Given the description of an element on the screen output the (x, y) to click on. 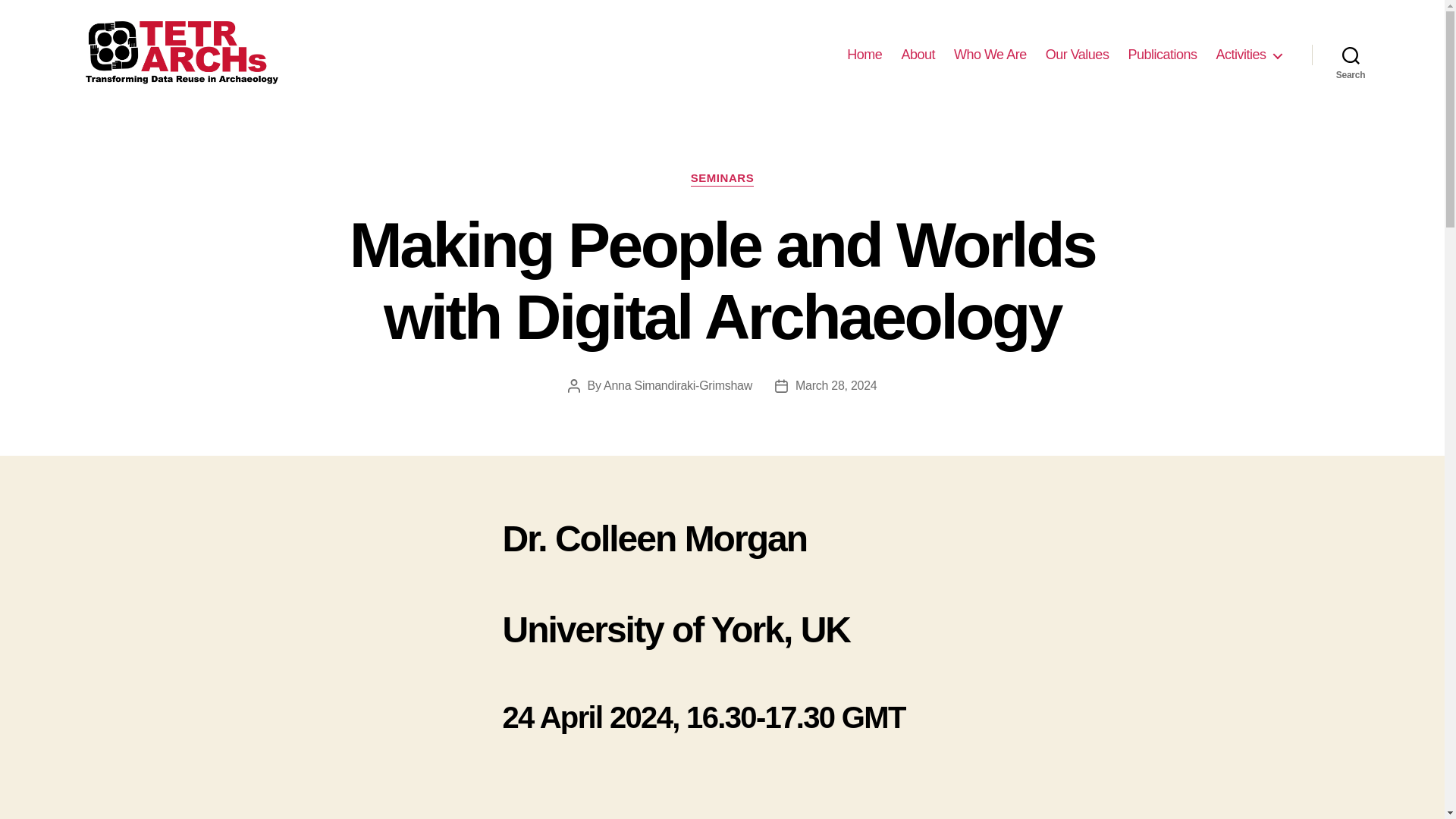
Our Values (1077, 54)
SEMINARS (722, 178)
Who We Are (989, 54)
Home (864, 54)
Search (1350, 55)
Anna Simandiraki-Grimshaw (678, 385)
About (917, 54)
March 28, 2024 (835, 385)
Activities (1248, 54)
Publications (1161, 54)
